Given the description of an element on the screen output the (x, y) to click on. 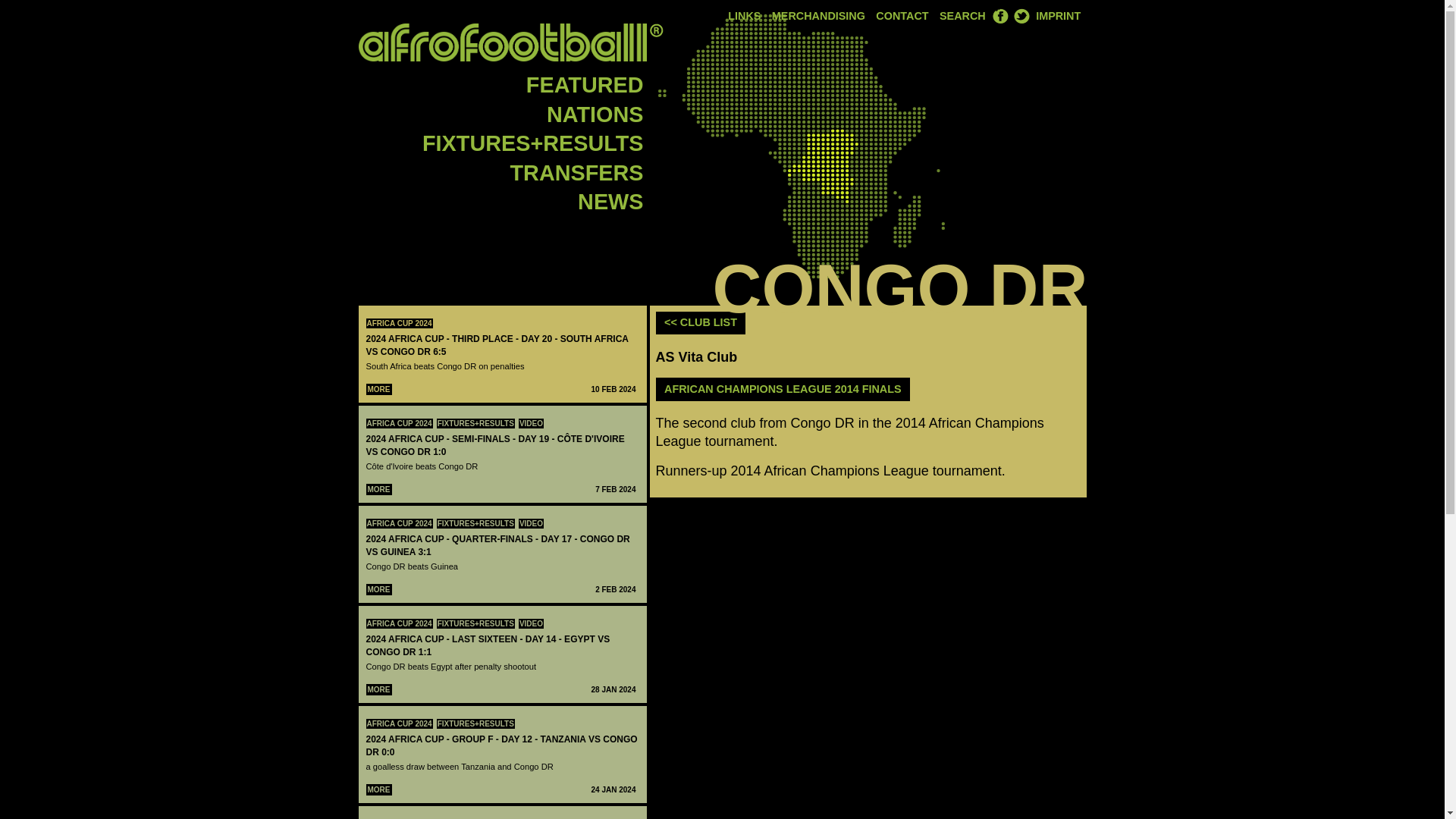
MERCHANDISING (818, 17)
LINKS (744, 17)
